Given the description of an element on the screen output the (x, y) to click on. 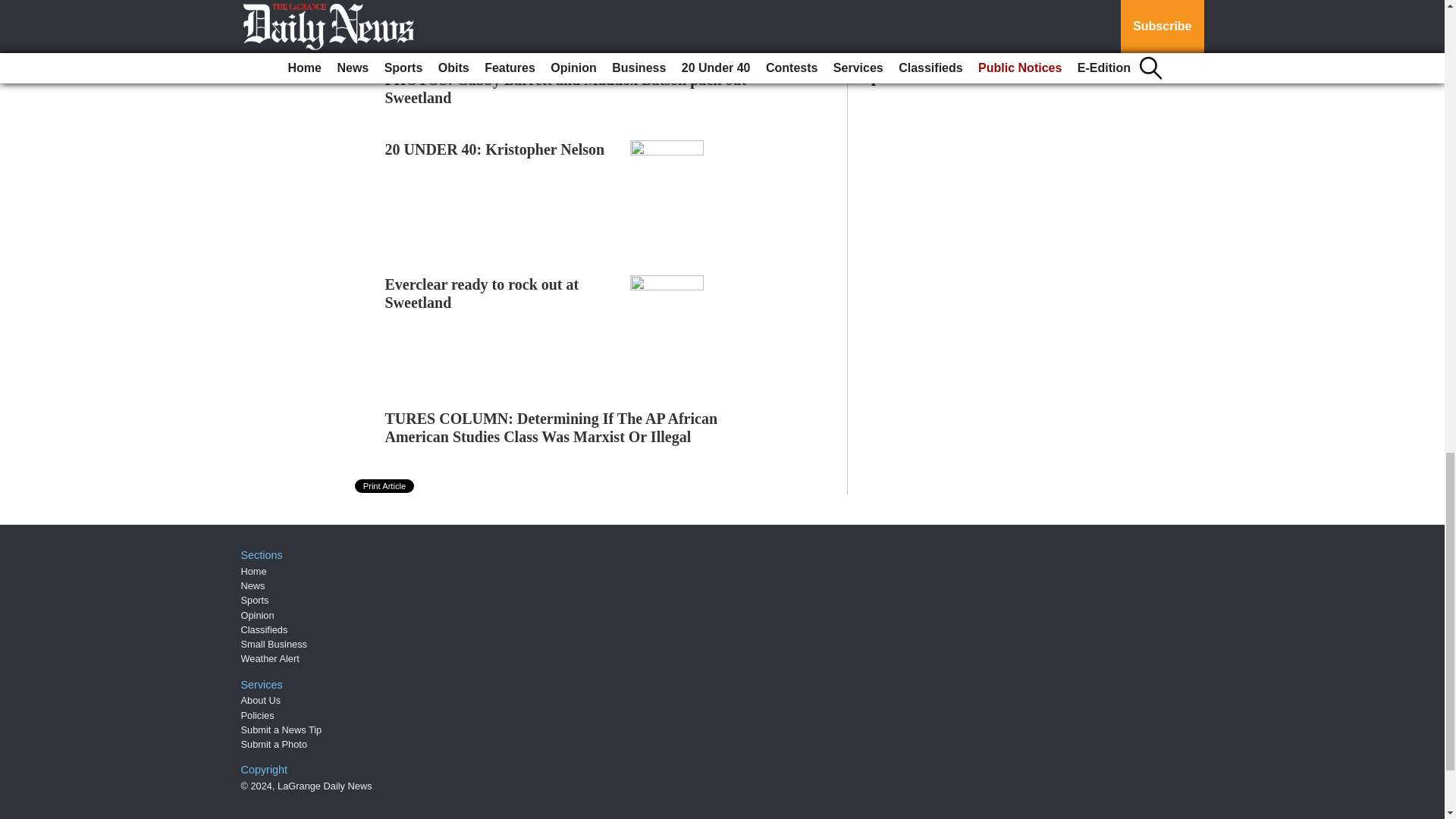
Everclear ready to rock out at Sweetland (482, 293)
PHOTOS: Gabby Barrett and Maddox Batson pack out Sweetland (565, 88)
20 UNDER 40: Kristopher Nelson (495, 149)
20 UNDER 40: Kristopher Nelson (495, 149)
Home (253, 571)
Sports (255, 600)
Print Article (384, 486)
News (252, 585)
